Given the description of an element on the screen output the (x, y) to click on. 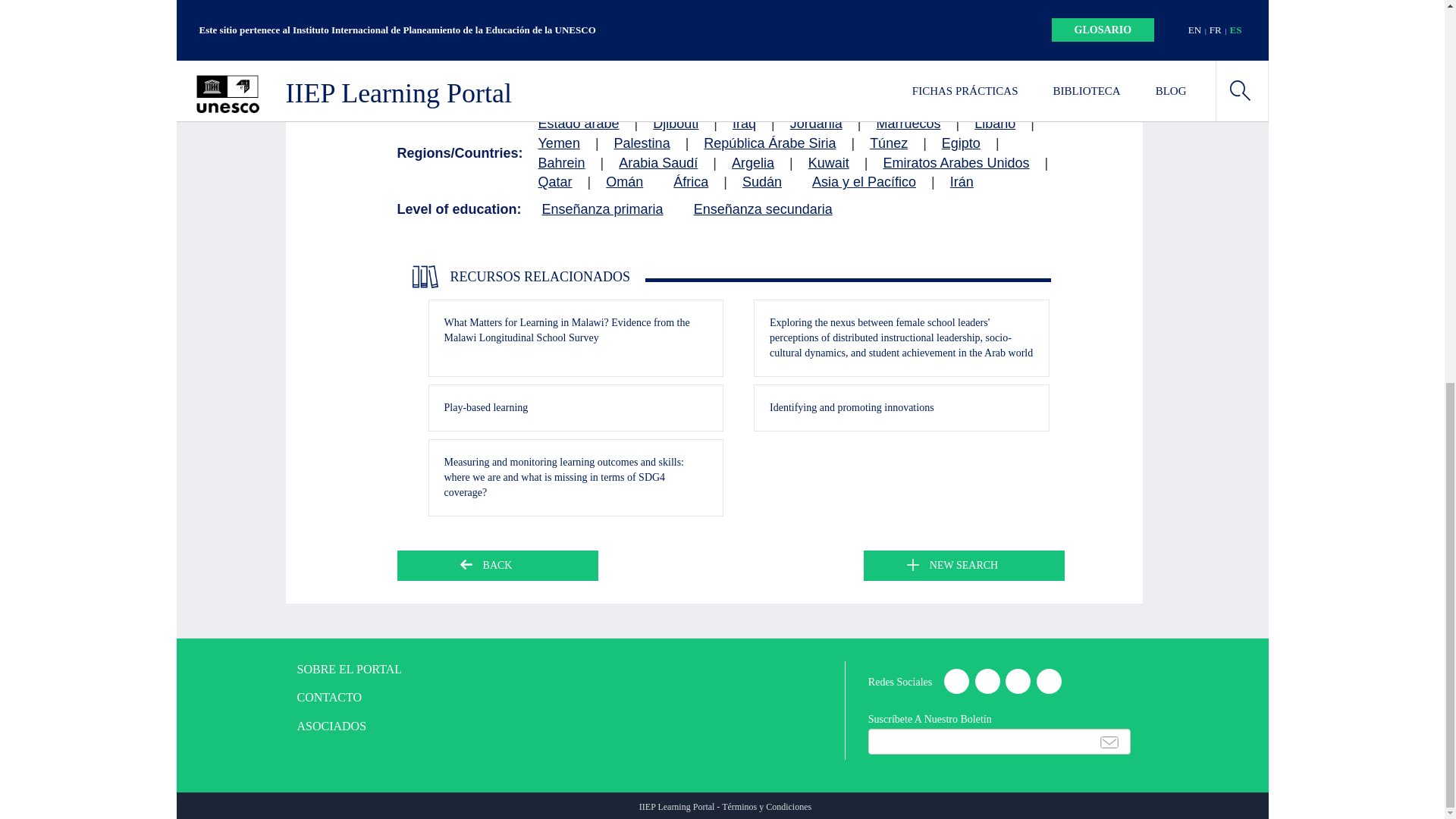
Marruecos (908, 124)
Djibouti (675, 124)
Trends in International Mathematics and Science Study, TIMSS (659, 96)
Palestina (641, 143)
Bahrein (561, 163)
Libano (994, 124)
Egipto (960, 143)
Iraq (743, 124)
Yemen (558, 143)
Jordania (816, 124)
